Given the description of an element on the screen output the (x, y) to click on. 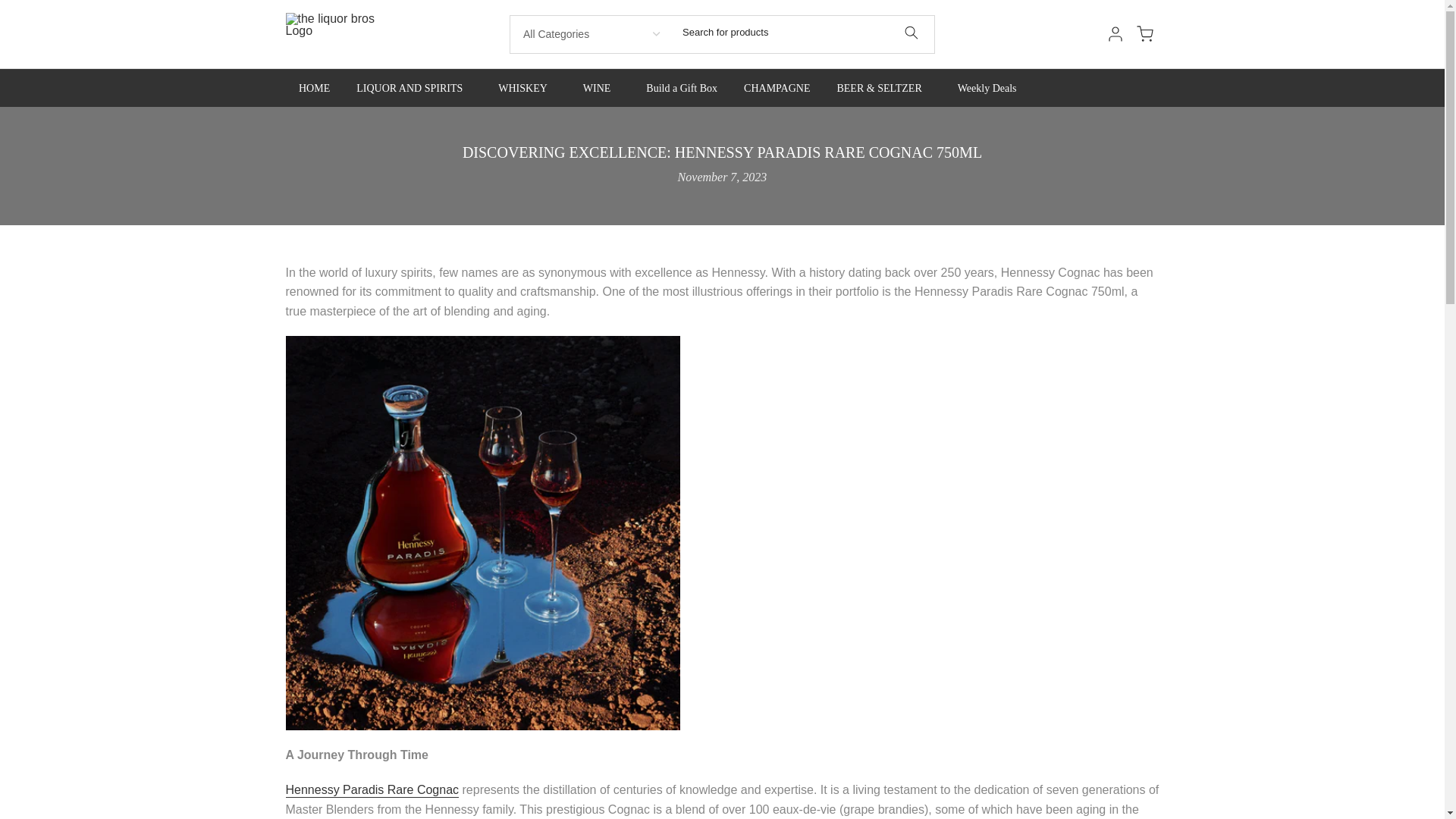
WHISKEY (527, 88)
Hennessy Paradis Rare Cognac 750ml (371, 789)
Hennessy Paradis Rare Cognac (371, 789)
HOME (313, 88)
LIQUOR AND SPIRITS (413, 88)
CHAMPAGNE (777, 88)
Build a Gift Box (681, 88)
WINE (601, 88)
Weekly Deals (986, 88)
Skip to content (10, 7)
